Given the description of an element on the screen output the (x, y) to click on. 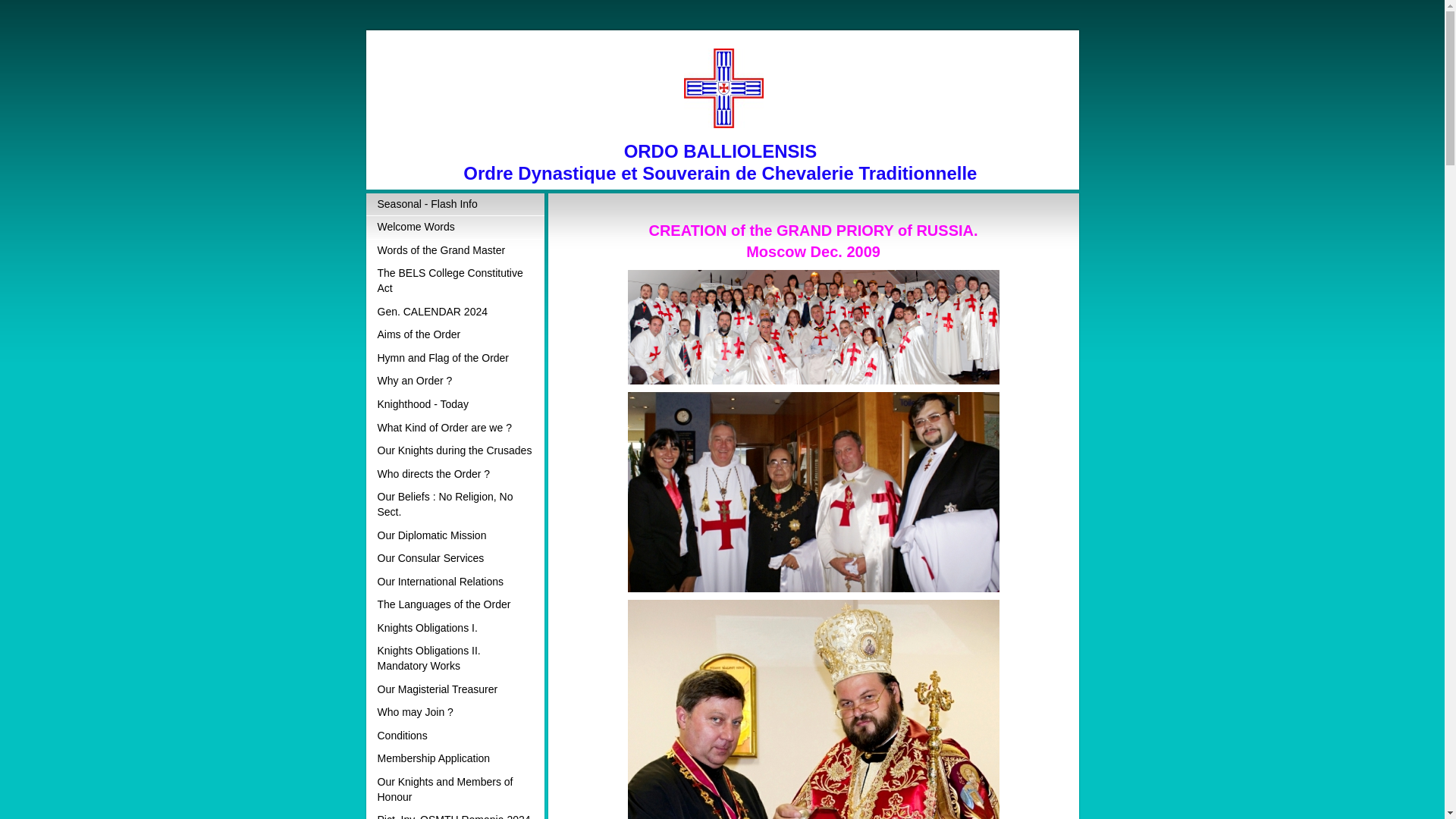
Welcome Words (454, 227)
Knights Obligations II. Mandatory Works (454, 658)
Our Consular Services (454, 558)
The BELS College Constitutive Act (454, 281)
The Languages of the Order (454, 605)
Who directs the Order ? (454, 474)
Membership Application (454, 759)
Why an Order ? (454, 381)
Our Magisterial Treasurer (454, 689)
Our International Relations (454, 582)
Our Diplomatic Mission (454, 535)
Our Knights and Members of Honour (454, 790)
Our Knights during the Crusades (454, 451)
Knights Obligations I. (454, 628)
Aims of the Order (454, 335)
